Given the description of an element on the screen output the (x, y) to click on. 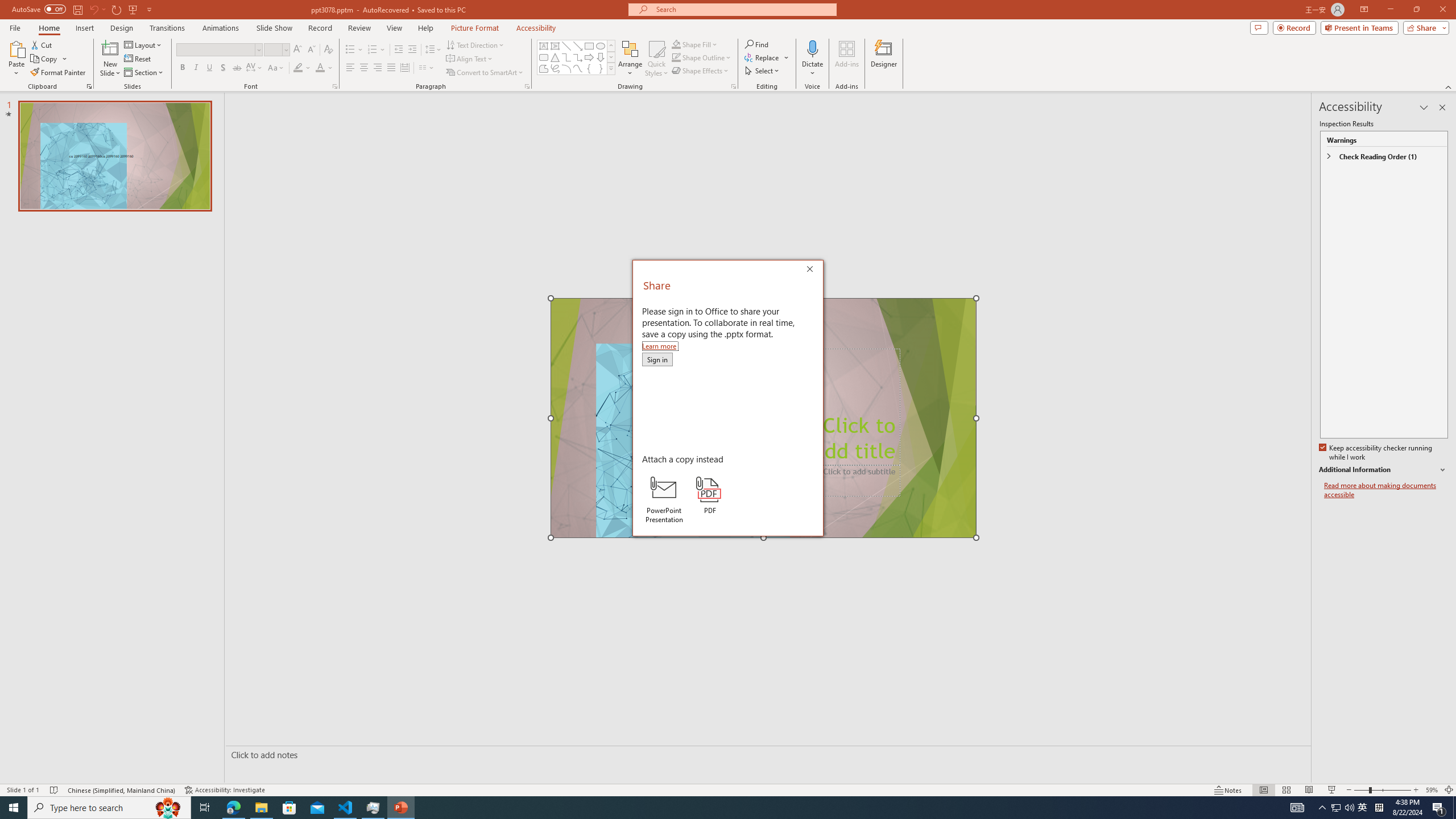
Rectangle (589, 45)
Columns (426, 67)
Change Case (276, 67)
Learn more (660, 345)
Arc (566, 68)
Text Highlight Color (302, 67)
Visual Studio Code - 1 running window (345, 807)
Font Color (324, 67)
File Explorer - 1 running window (261, 807)
